Given the description of an element on the screen output the (x, y) to click on. 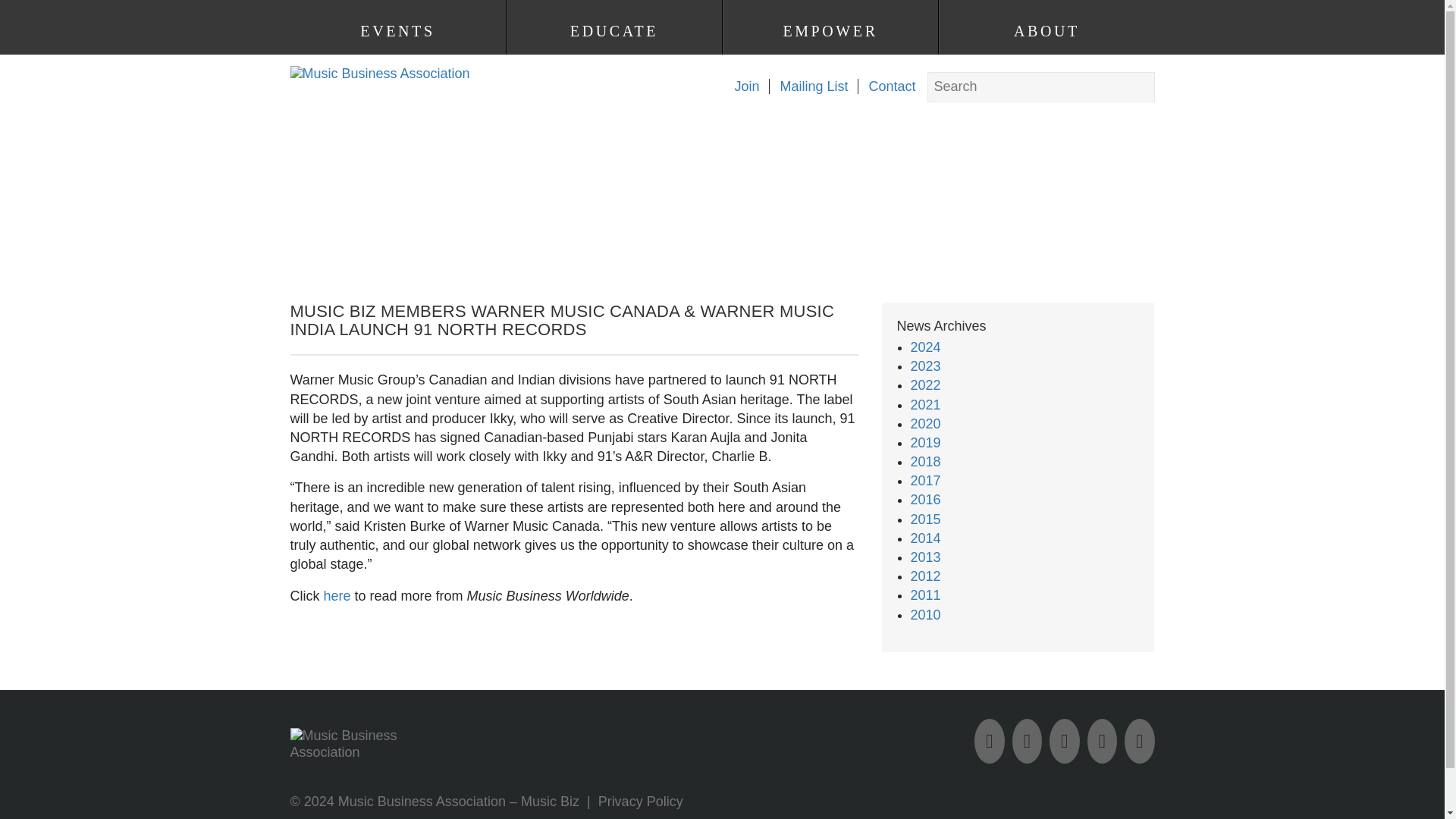
EVENTS (397, 31)
EMPOWER (830, 31)
Contact (886, 86)
Search (27, 10)
ABOUT (1046, 31)
EDUCATE (613, 31)
Mailing List (807, 86)
Join (740, 86)
